Given the description of an element on the screen output the (x, y) to click on. 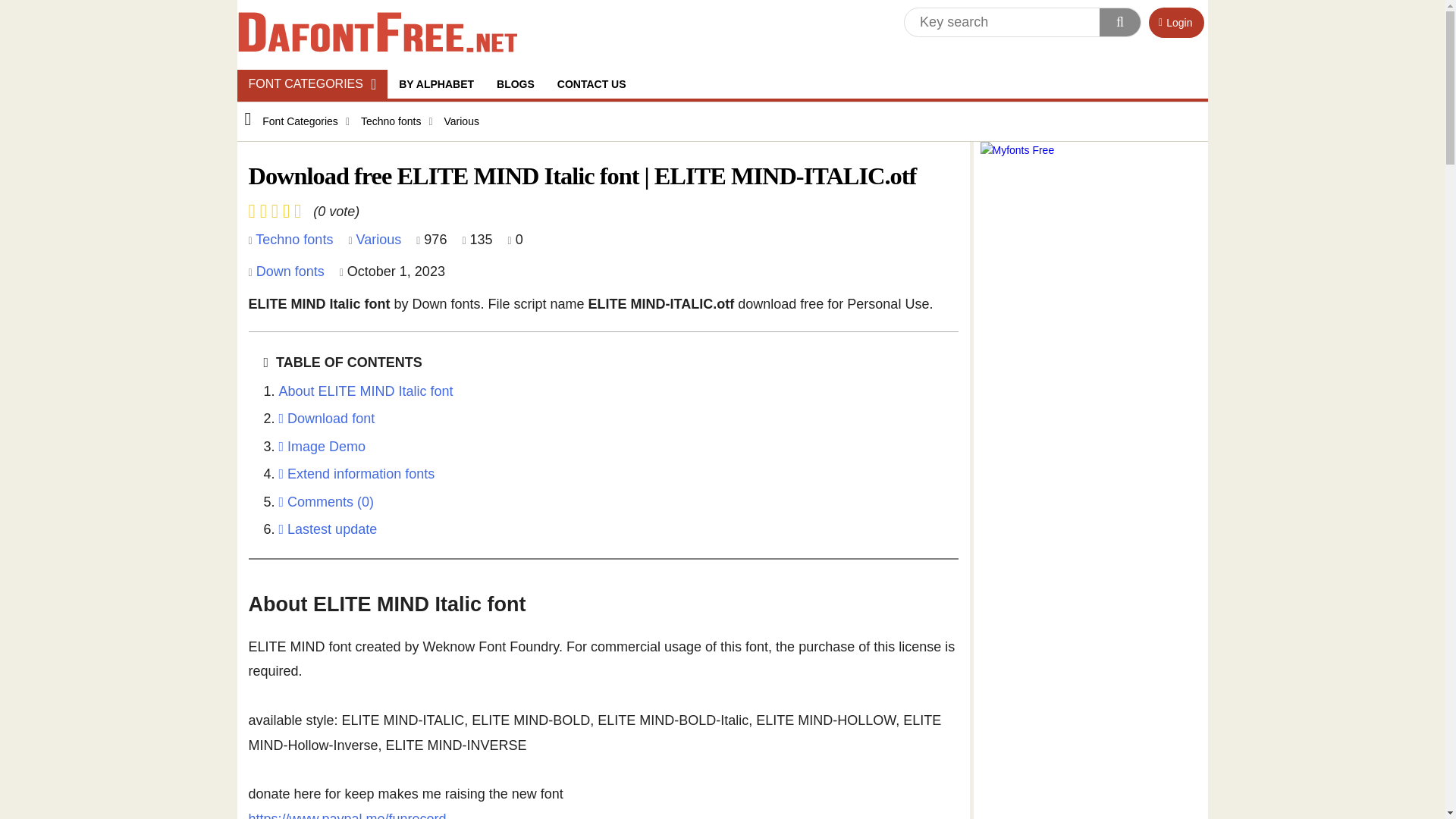
Search (1119, 22)
BY ALPHABET (435, 83)
FONT CATEGORIES (311, 83)
Font Categories (311, 83)
Login (1176, 22)
By alphabet (435, 83)
Login (1176, 22)
